Given the description of an element on the screen output the (x, y) to click on. 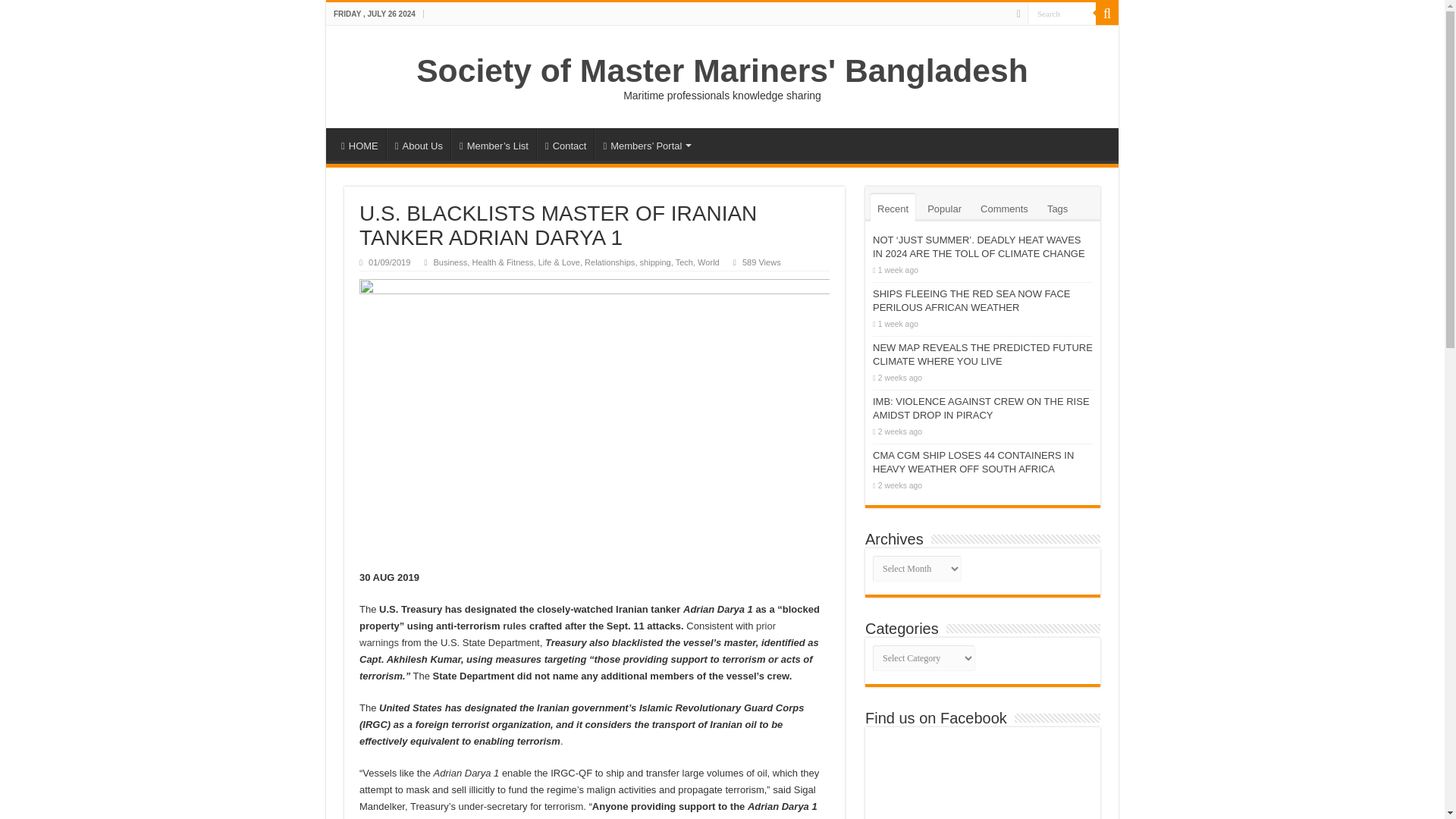
Relationships (609, 261)
Search (1061, 13)
Society of Master Mariners' Bangladesh (721, 70)
World (708, 261)
rules (513, 625)
Tech (684, 261)
prior warnings (567, 633)
Search (1061, 13)
Search (1061, 13)
HOME (359, 143)
Search (1107, 13)
shipping (655, 261)
Business (449, 261)
About Us (418, 143)
Contact (565, 143)
